Given the description of an element on the screen output the (x, y) to click on. 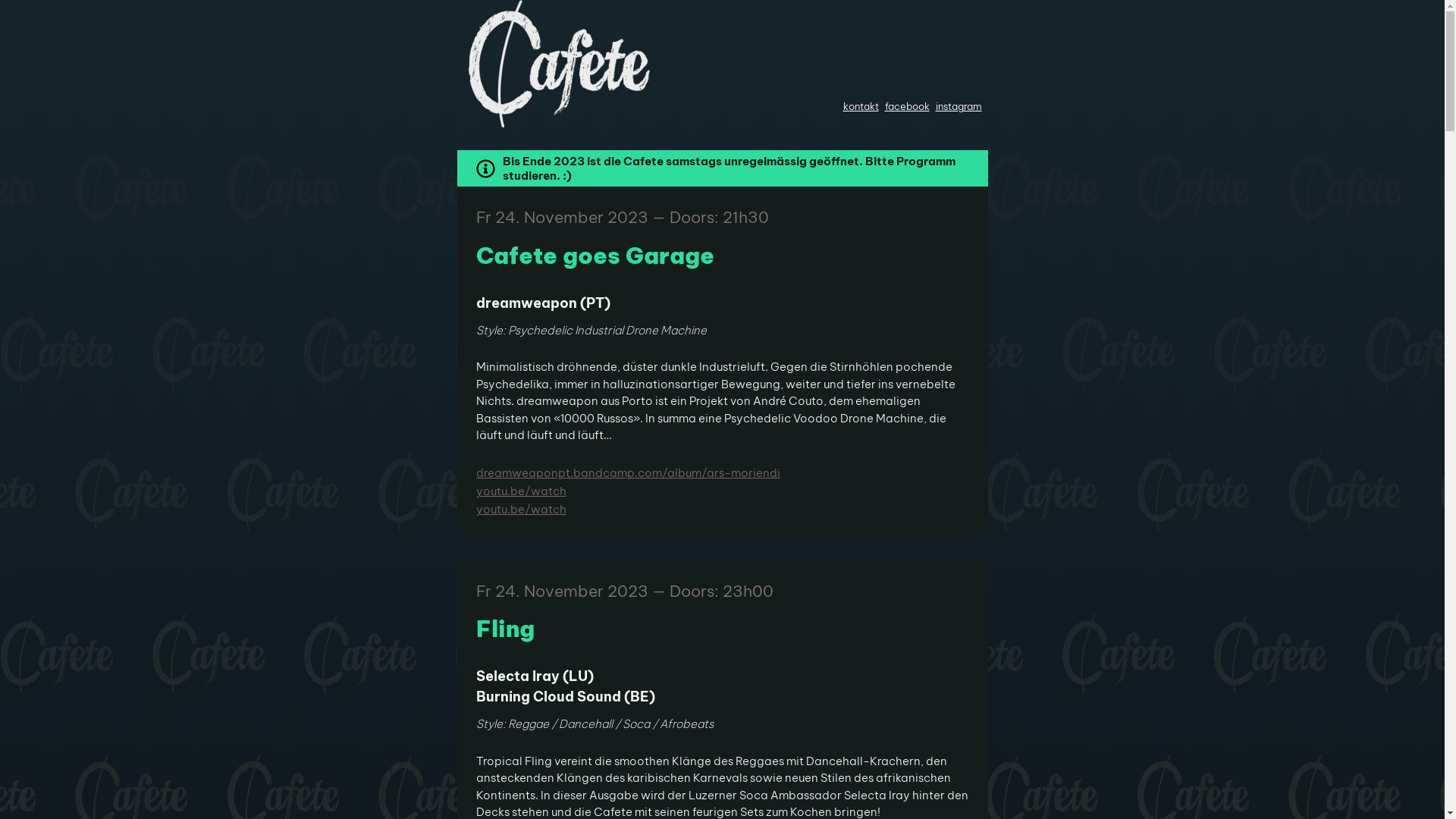
youtu.be/watch Element type: text (722, 509)
youtu.be/watch Element type: text (722, 491)
kontakt Element type: text (860, 106)
instagram Element type: text (958, 106)
dreamweaponpt.bandcamp.com/album/ars-moriendi Element type: text (722, 473)
facebook Element type: text (906, 106)
